Given the description of an element on the screen output the (x, y) to click on. 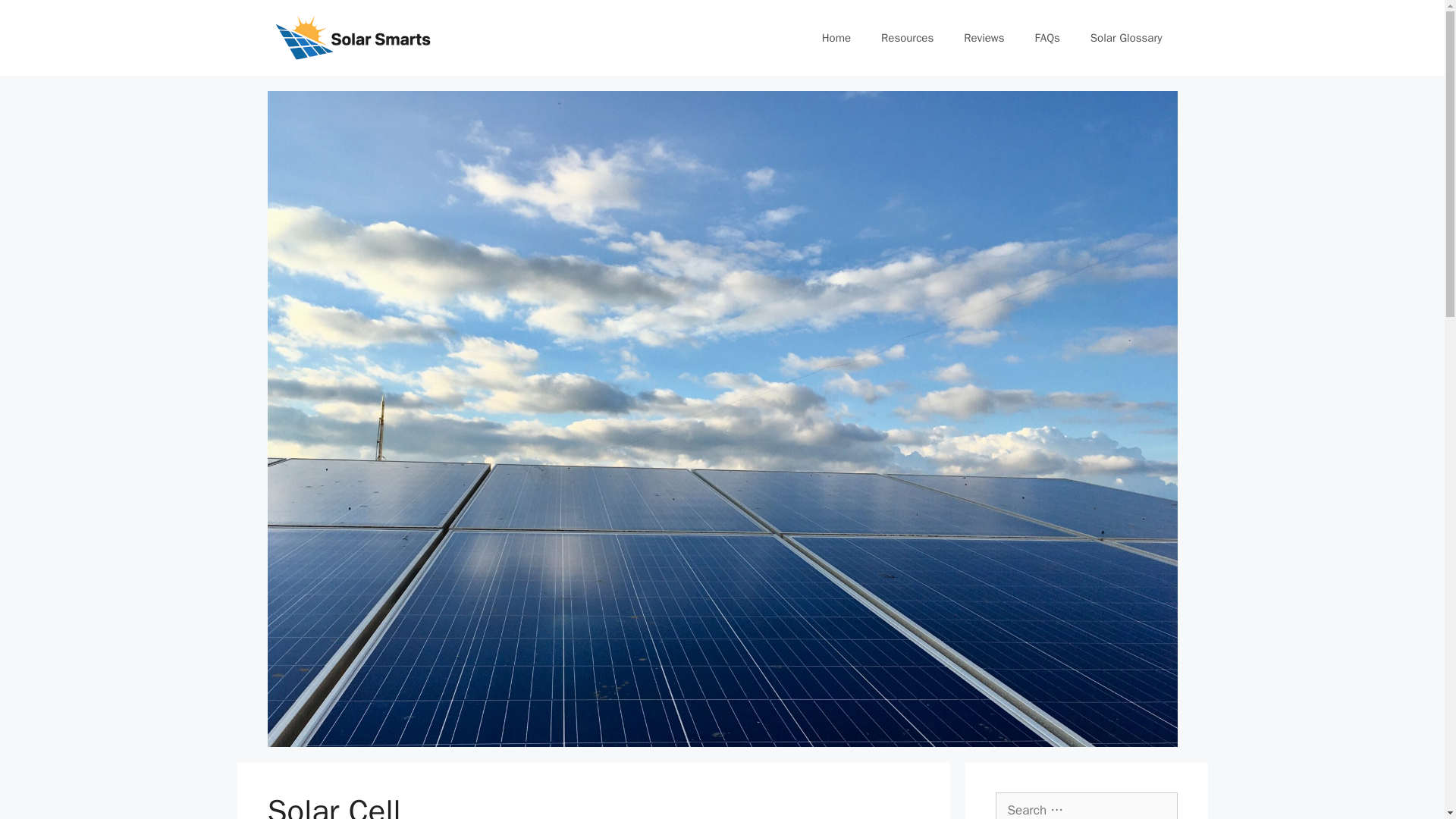
Search for: (1085, 805)
FAQs (1047, 37)
Solar Glossary (1126, 37)
Home (836, 37)
Solar Smarts (349, 37)
Resources (907, 37)
Search (35, 18)
Reviews (984, 37)
Solar Smarts (349, 36)
